Given the description of an element on the screen output the (x, y) to click on. 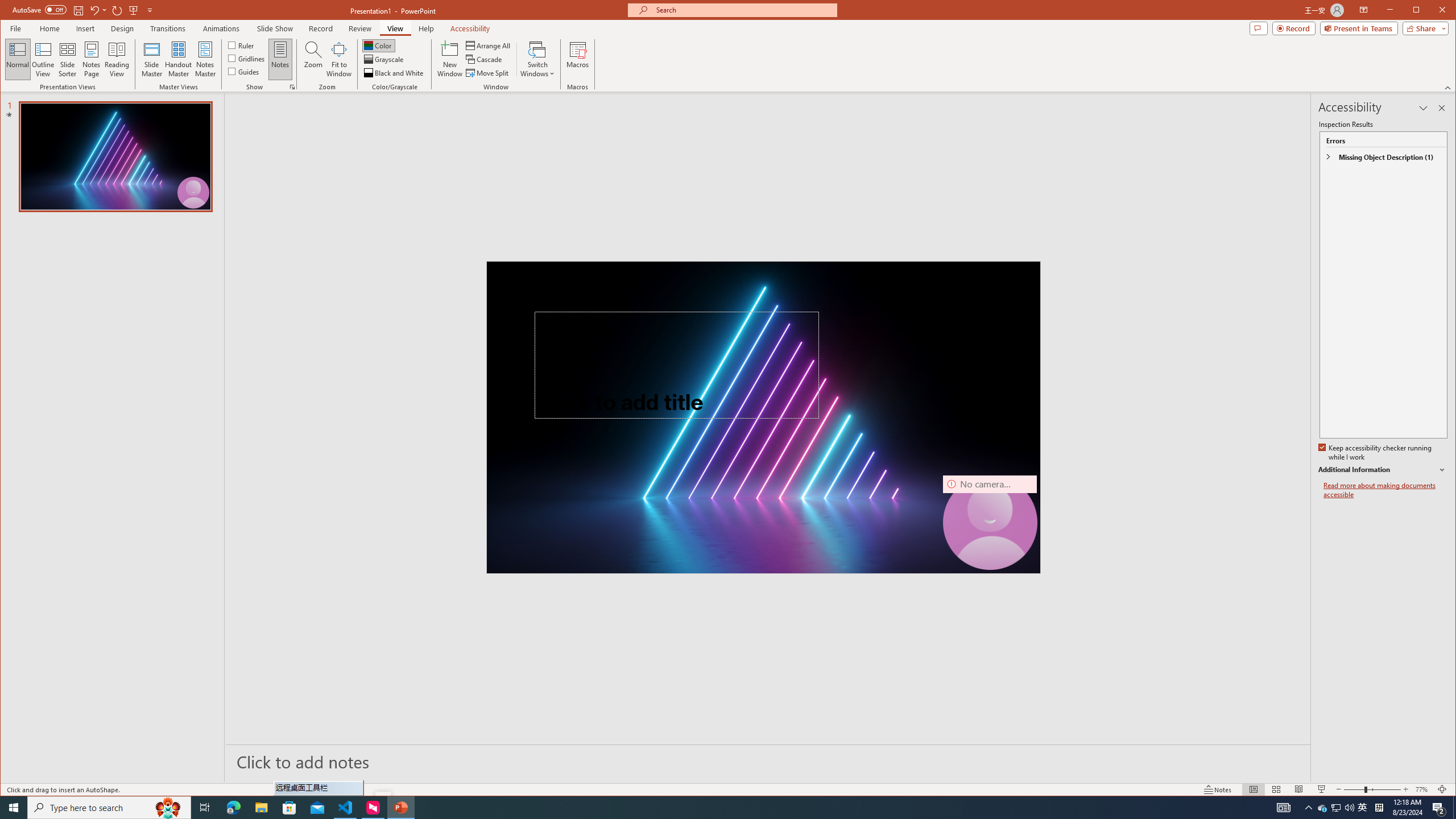
Macros (576, 59)
Switch Windows (537, 59)
Move Split (488, 72)
Notes Page (91, 59)
